Given the description of an element on the screen output the (x, y) to click on. 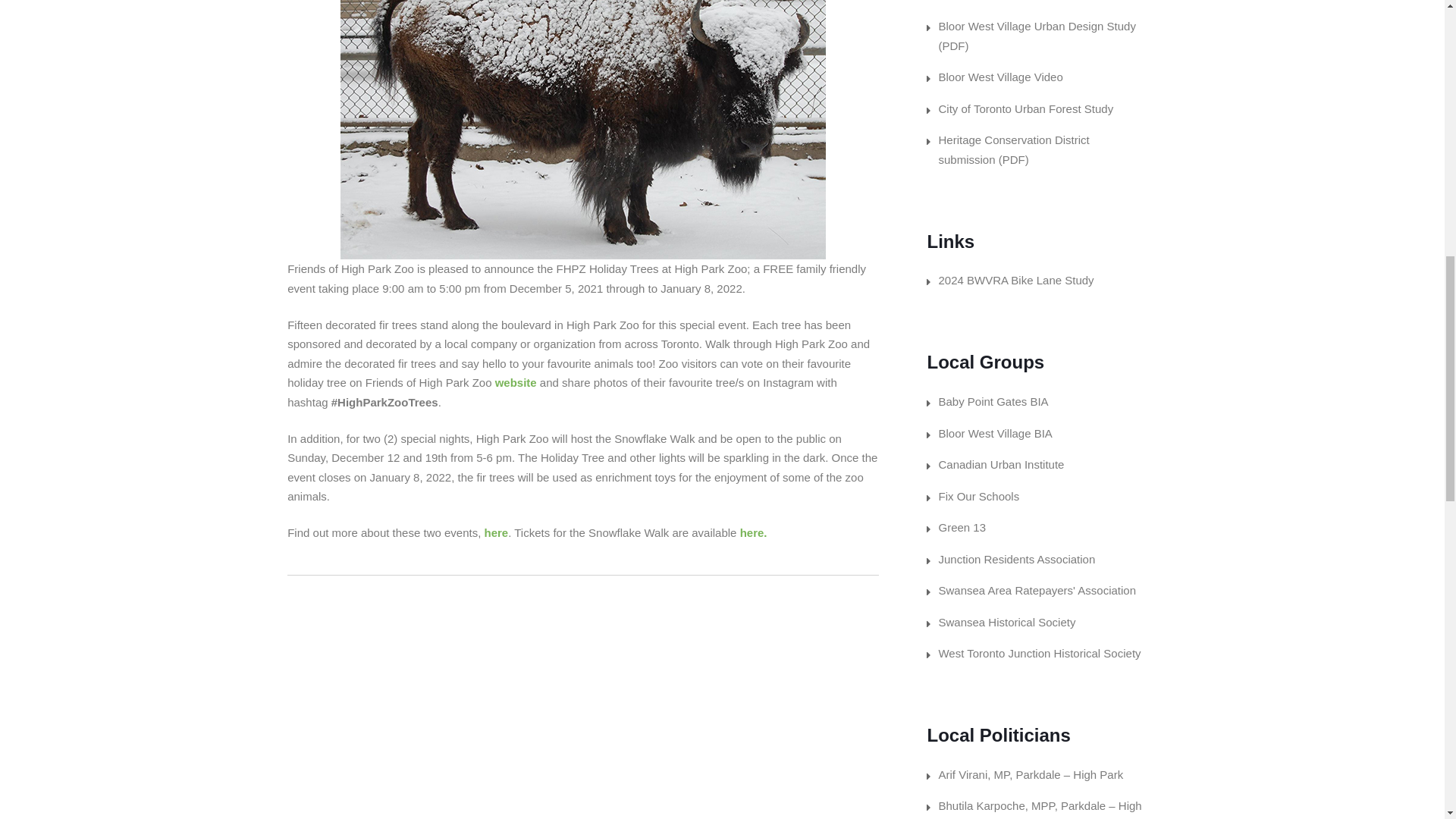
West Toronto Junction Historical Society (1038, 653)
2024 BWVRA AGM Slides (1003, 0)
Swansea Historical Society (1006, 621)
2024 Bike Land Study done by the BWVRA (1015, 279)
here (496, 532)
Swansea Area Ratepayers' Association (1036, 590)
A brief video of life in Bloor West Village (999, 76)
here. (753, 532)
website  (517, 382)
Canadian Urban Institute (1000, 463)
Junction Residents Association (1015, 558)
Baby Point Gates BIA (992, 400)
Junction Residents Association (1015, 558)
Slides from our recent AGM held in July 2024 (1003, 0)
